Given the description of an element on the screen output the (x, y) to click on. 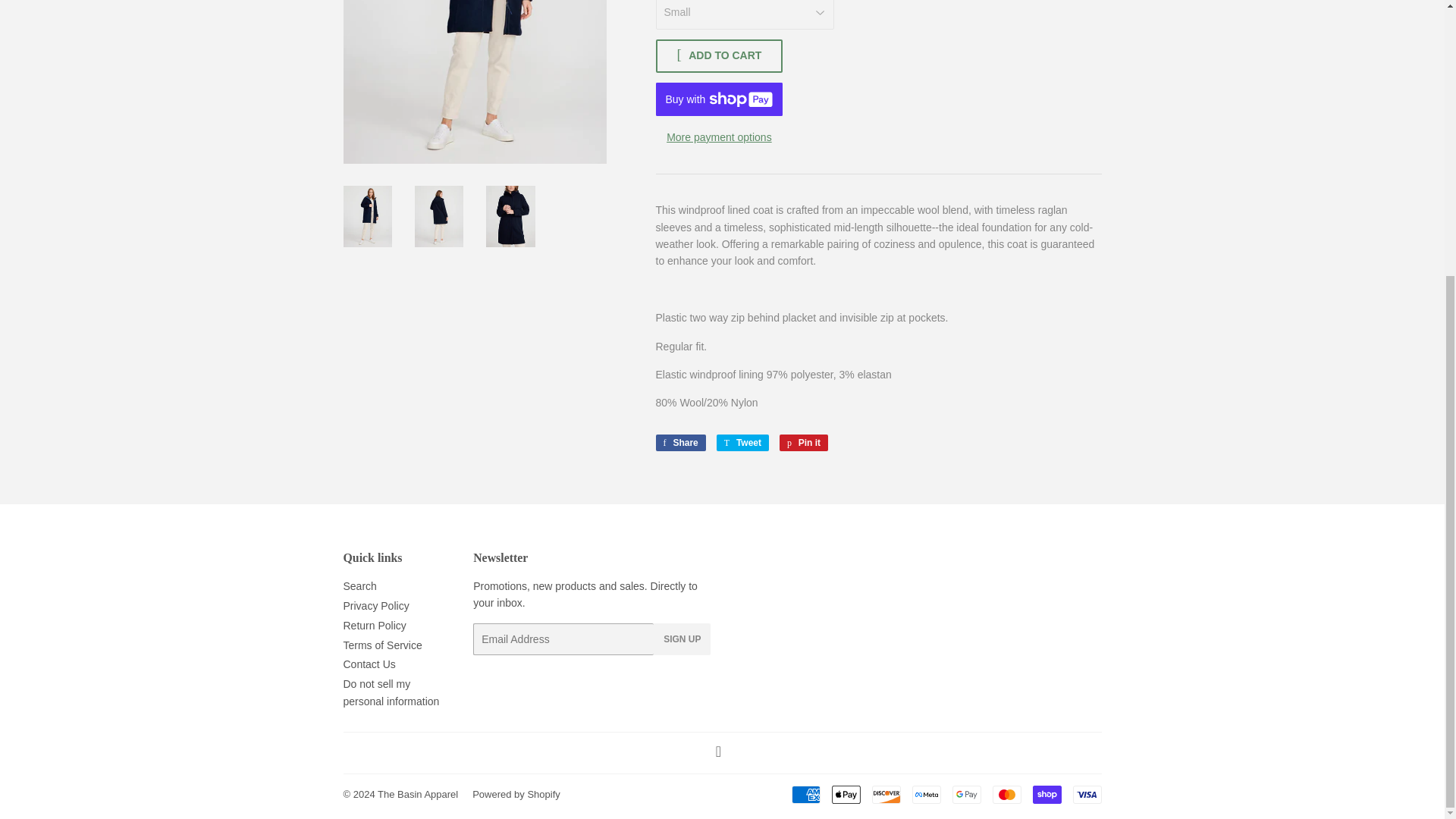
Visa (1085, 794)
Pin on Pinterest (803, 442)
Share on Facebook (679, 442)
Google Pay (966, 794)
Meta Pay (925, 794)
Tweet on Twitter (742, 442)
Shop Pay (1046, 794)
Mastercard (1005, 794)
Discover (886, 794)
Apple Pay (845, 794)
American Express (806, 794)
